Given the description of an element on the screen output the (x, y) to click on. 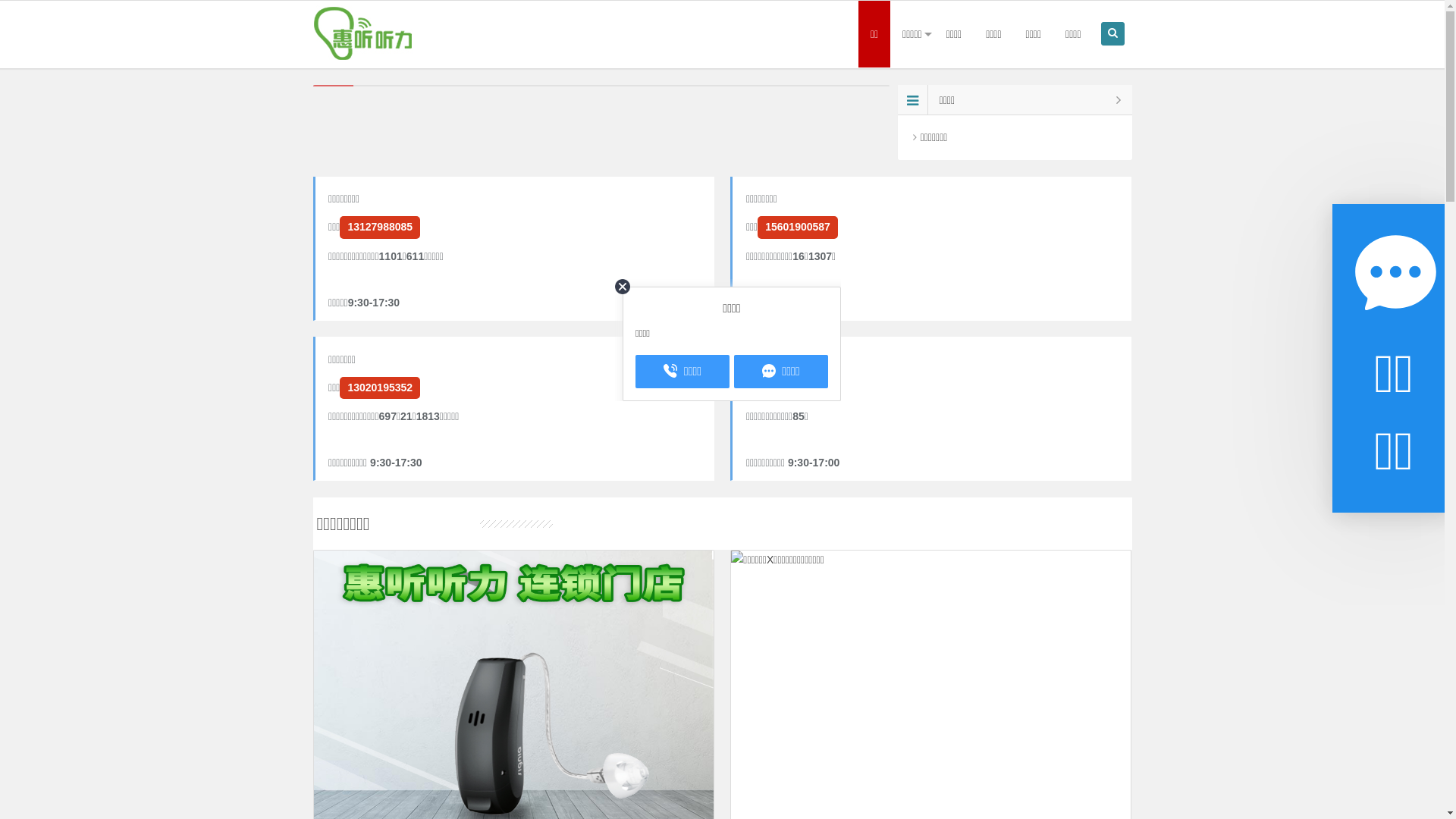
13020151990 Element type: text (797, 387)
15601900587 Element type: text (797, 227)
13127988085 Element type: text (379, 227)
13020195352 Element type: text (379, 387)
